Given the description of an element on the screen output the (x, y) to click on. 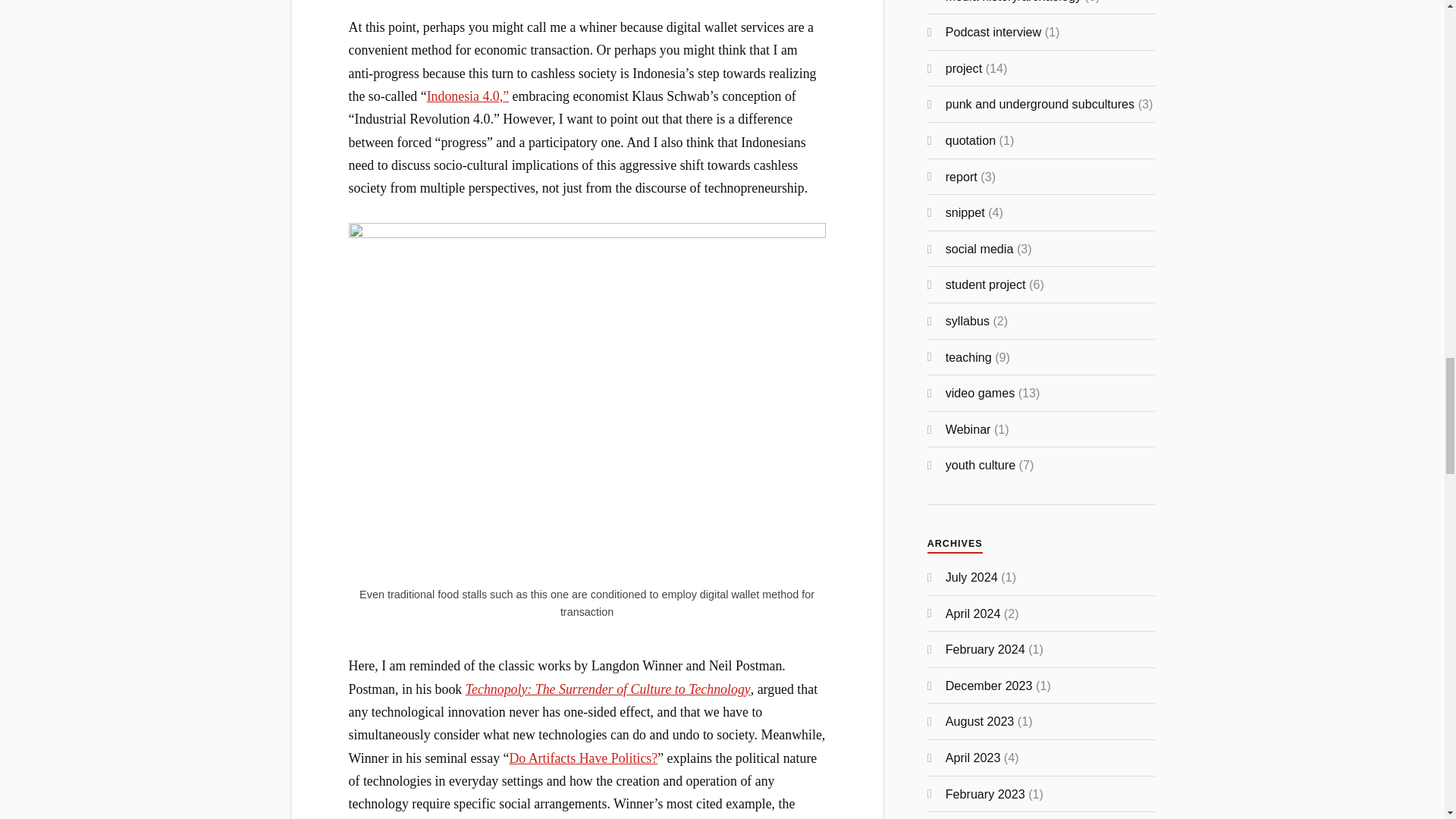
Do Artifacts Have Politics? (583, 758)
Technopoly: The Surrender of Culture to Technology (608, 688)
